Given the description of an element on the screen output the (x, y) to click on. 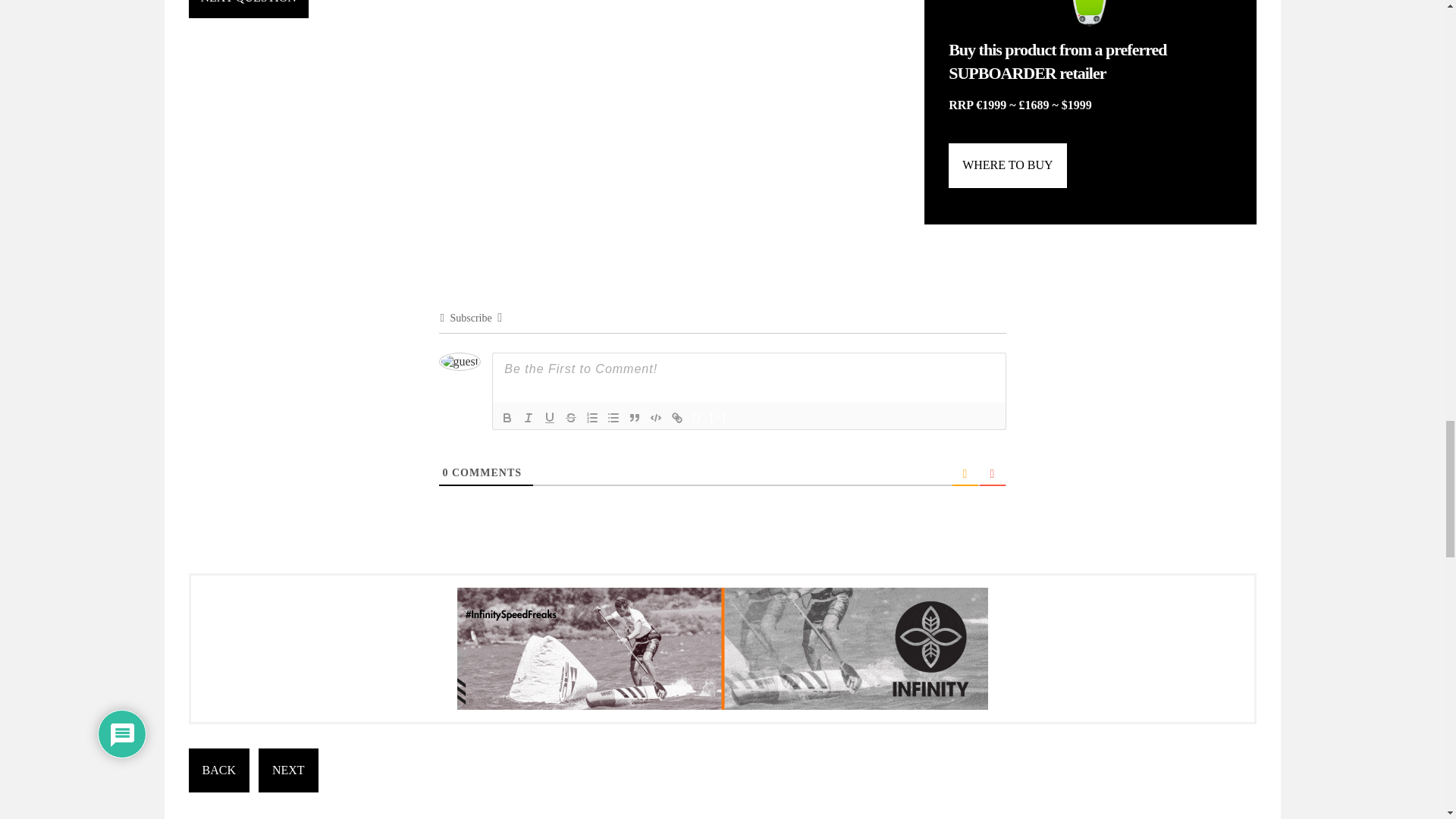
Underline (549, 417)
Code Block (655, 417)
Bold (507, 417)
Next Question (247, 9)
Strike (570, 417)
Blockquote (634, 417)
Link (676, 417)
Ordered List (591, 417)
Unordered List (613, 417)
Italic (528, 417)
